Given the description of an element on the screen output the (x, y) to click on. 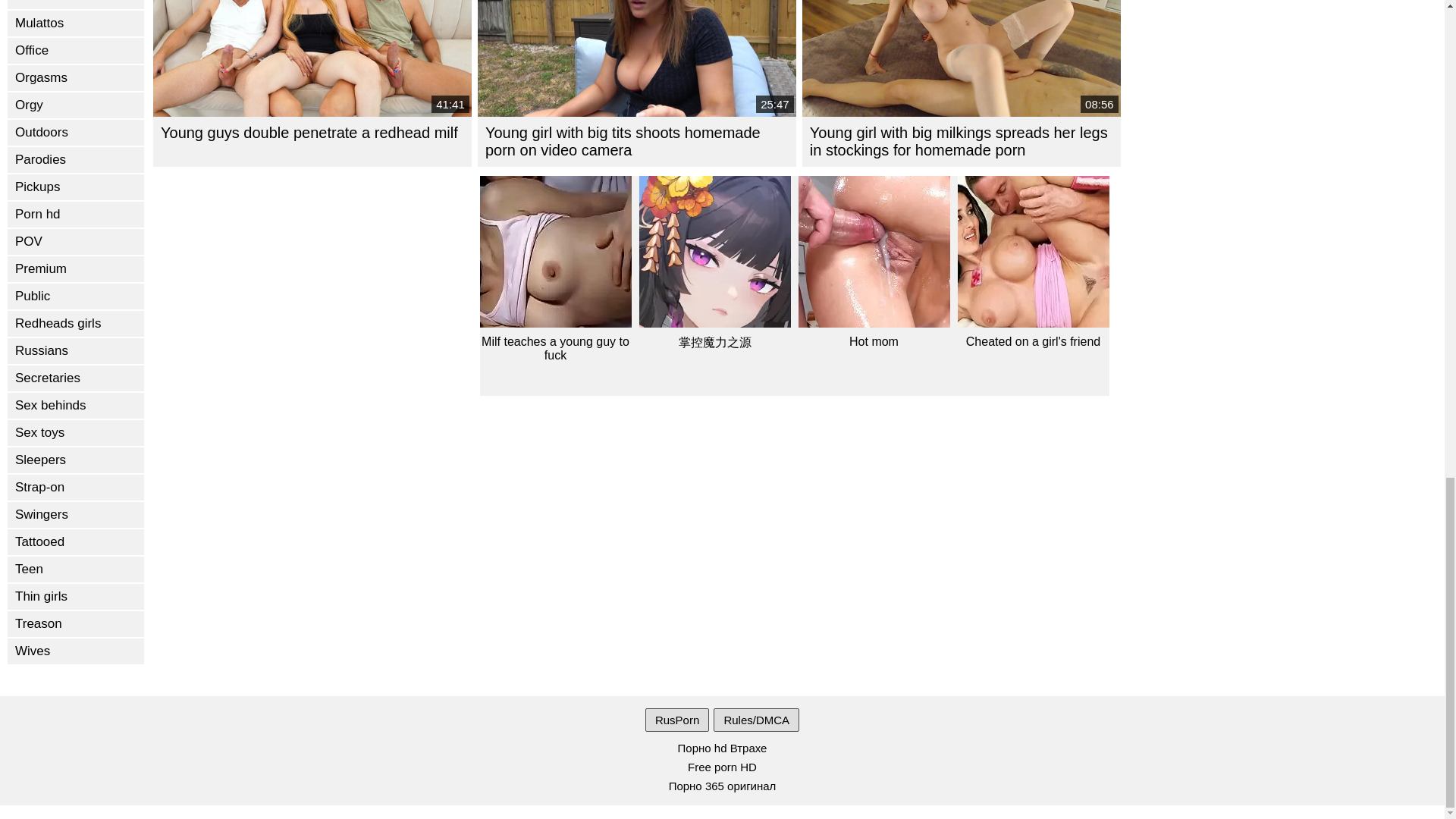
LiveInternet (5, 810)
